Given the description of an element on the screen output the (x, y) to click on. 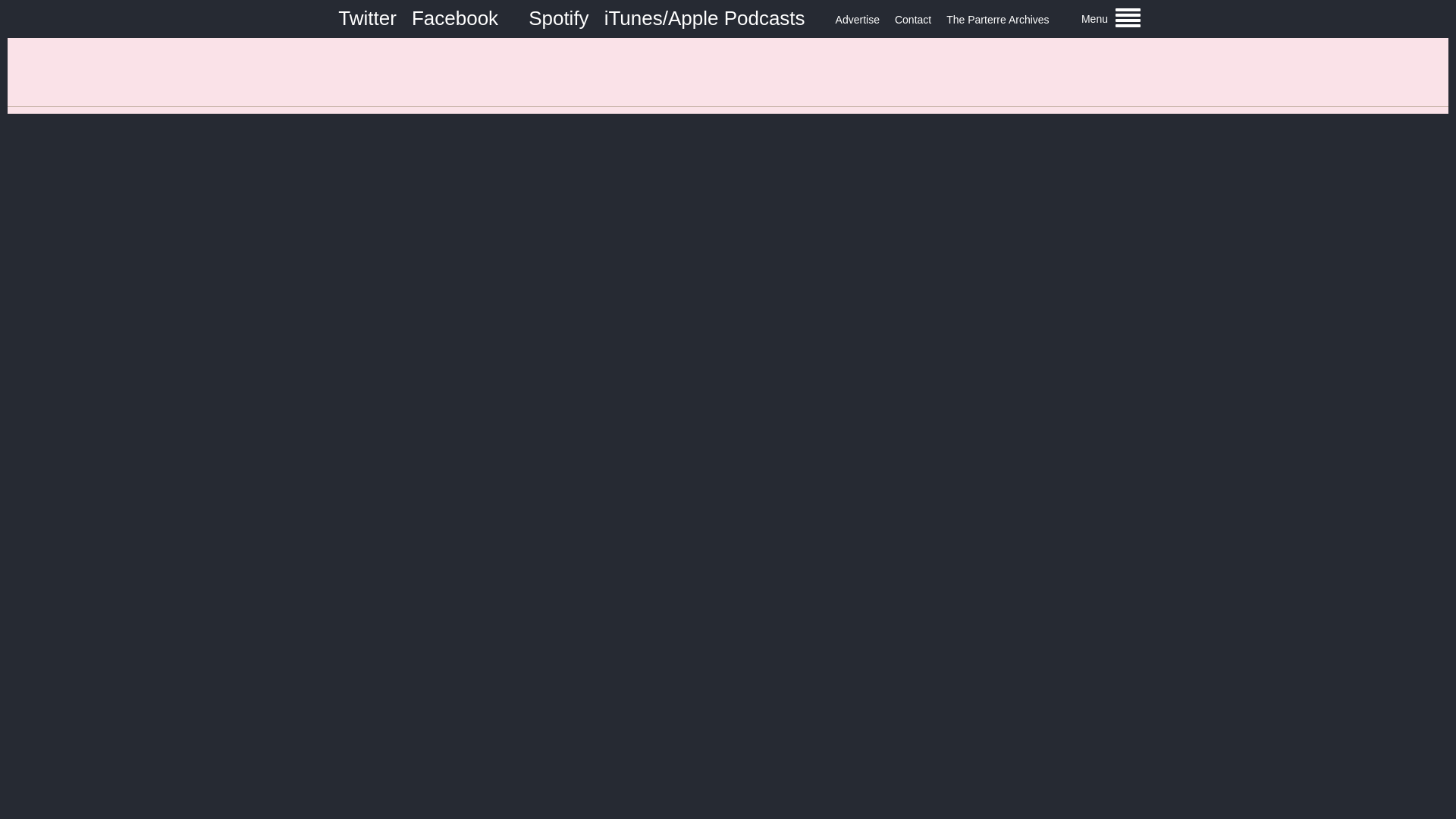
Menu (1110, 18)
Contact (913, 19)
Spotify (558, 17)
Advertise (857, 19)
Facebook (454, 17)
Twitter (366, 17)
The Parterre Archives (997, 19)
Home (728, 71)
